Given the description of an element on the screen output the (x, y) to click on. 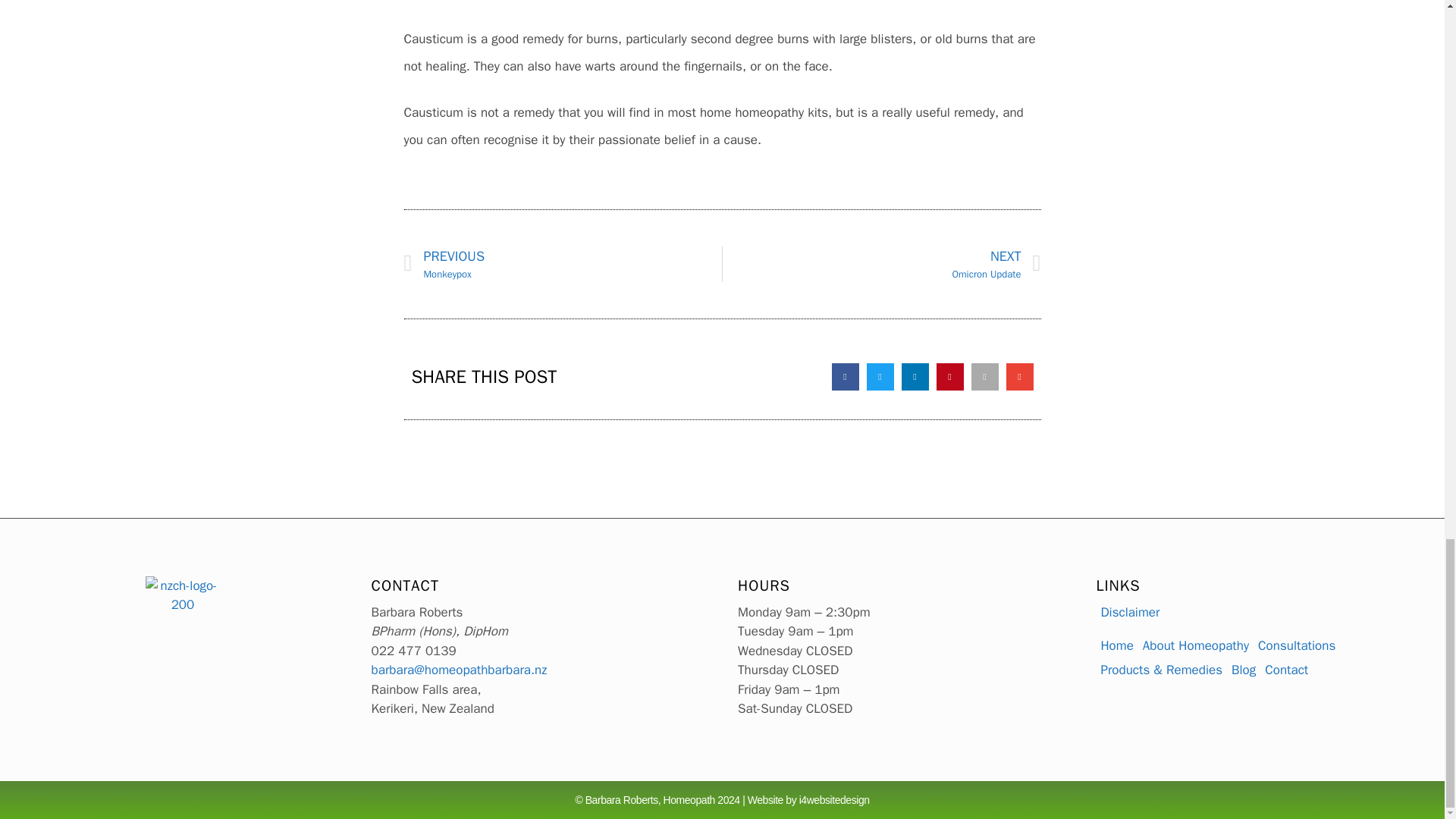
Disclaimer (1129, 611)
nzch-logo-200 (182, 595)
Contact (1286, 670)
Blog (1243, 670)
i4websitedesign (881, 263)
Consultations (834, 799)
About Homeopathy (562, 263)
Home (1296, 645)
